Given the description of an element on the screen output the (x, y) to click on. 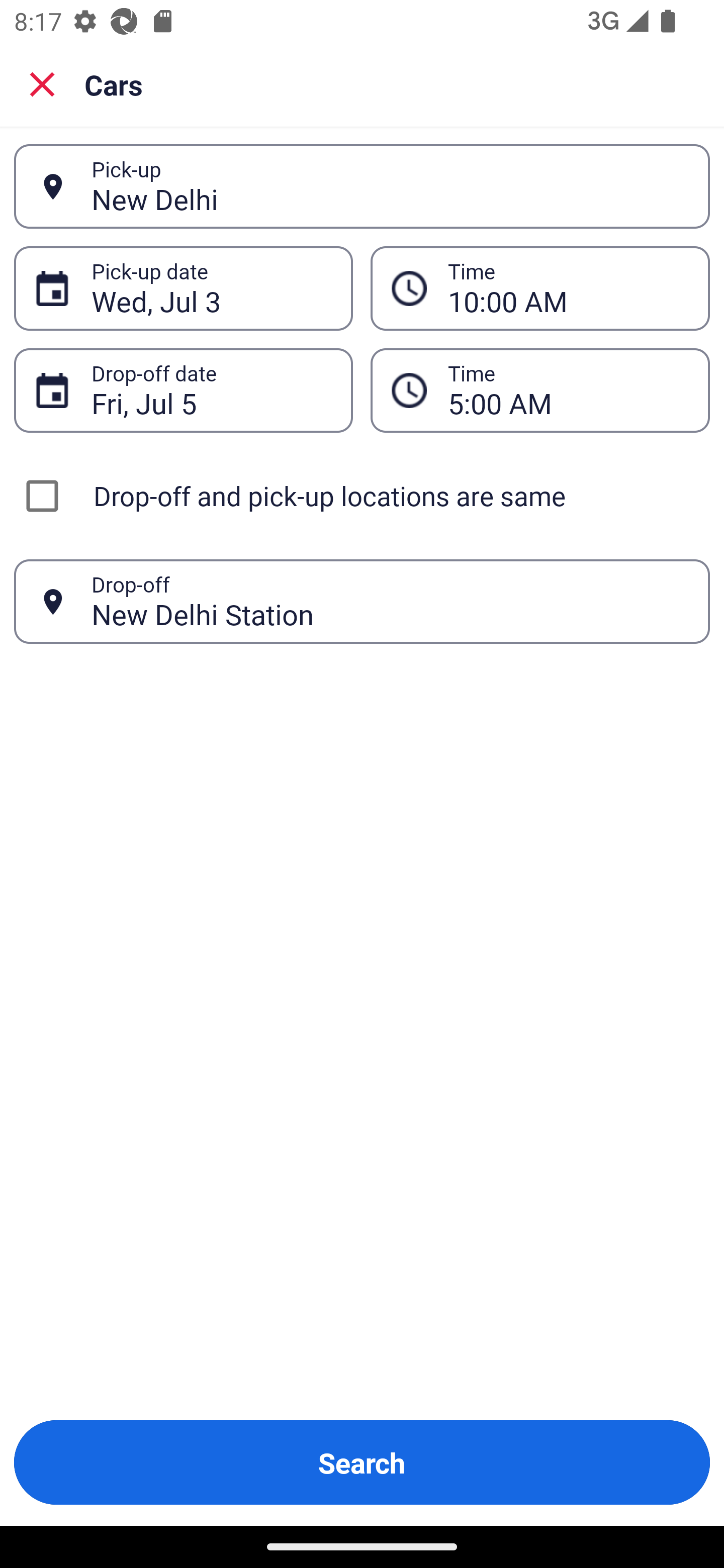
Close search screen (41, 83)
New Delhi Pick-up (361, 186)
New Delhi (389, 186)
Wed, Jul 3 Pick-up date (183, 288)
10:00 AM (540, 288)
Wed, Jul 3 (211, 288)
10:00 AM (568, 288)
Fri, Jul 5 Drop-off date (183, 390)
5:00 AM (540, 390)
Fri, Jul 5 (211, 390)
5:00 AM (568, 390)
Drop-off and pick-up locations are same (361, 495)
New Delhi Station Drop-off (361, 601)
New Delhi Station (389, 601)
Search Button Search (361, 1462)
